Given the description of an element on the screen output the (x, y) to click on. 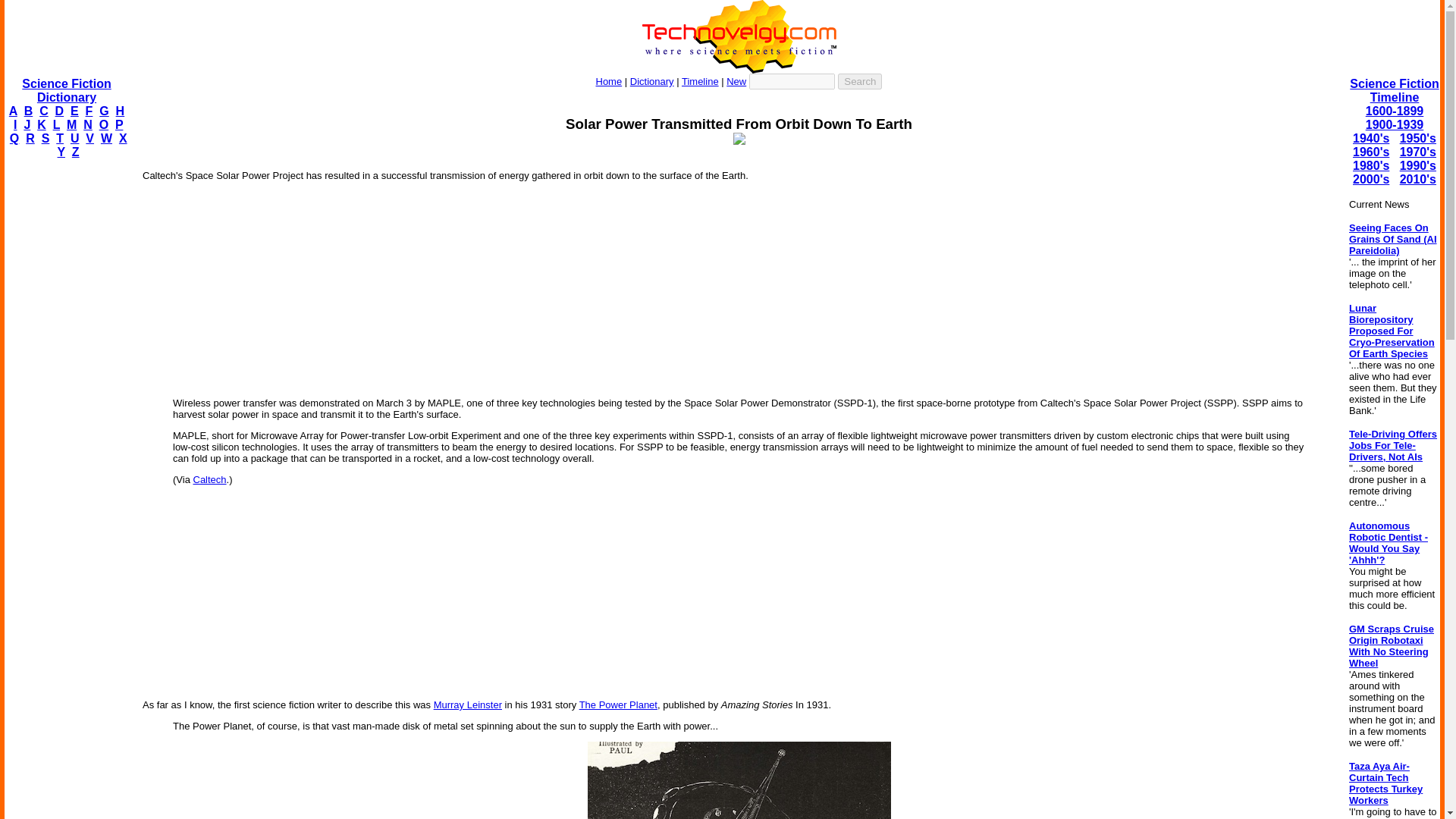
Timeline (700, 81)
New (735, 81)
Advertisement (737, 150)
Home (609, 81)
Search (860, 81)
Science Fiction Dictionary (65, 90)
Murray Leinster (467, 704)
Search (860, 81)
Caltech (208, 479)
YouTube video player (739, 288)
